Given the description of an element on the screen output the (x, y) to click on. 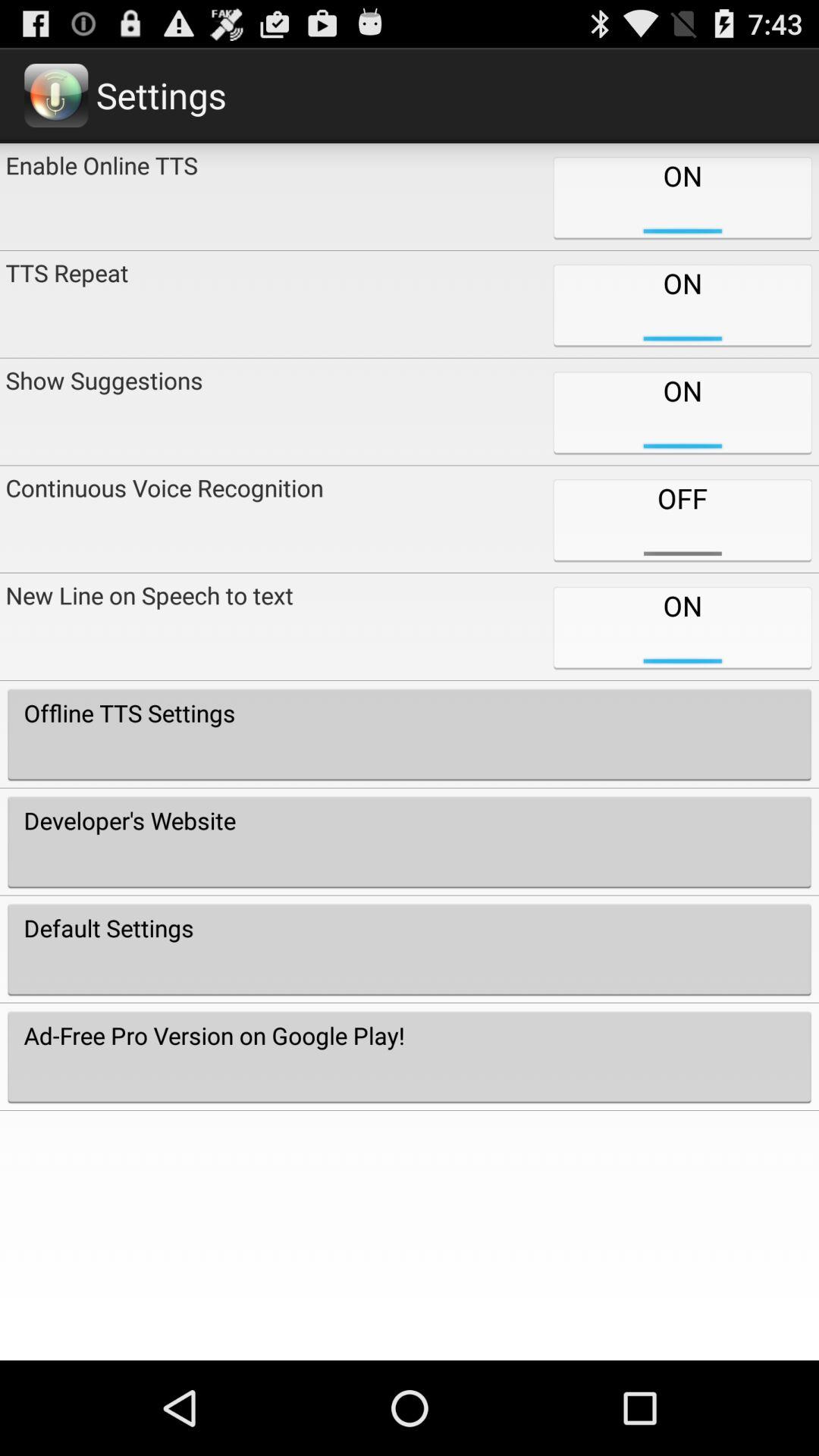
swipe to the off icon (682, 519)
